Given the description of an element on the screen output the (x, y) to click on. 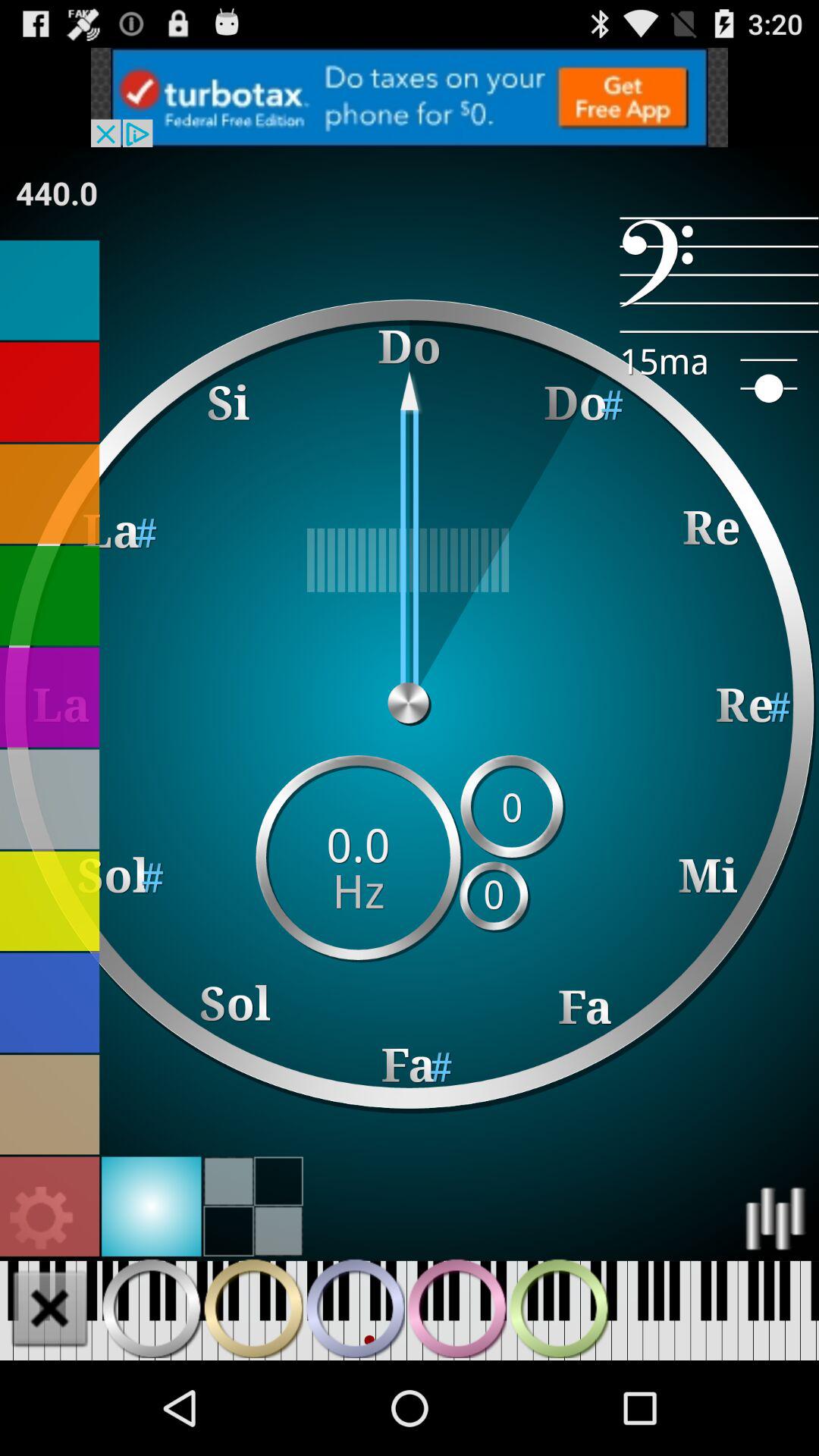
this should be more colorful (42, 1218)
